Given the description of an element on the screen output the (x, y) to click on. 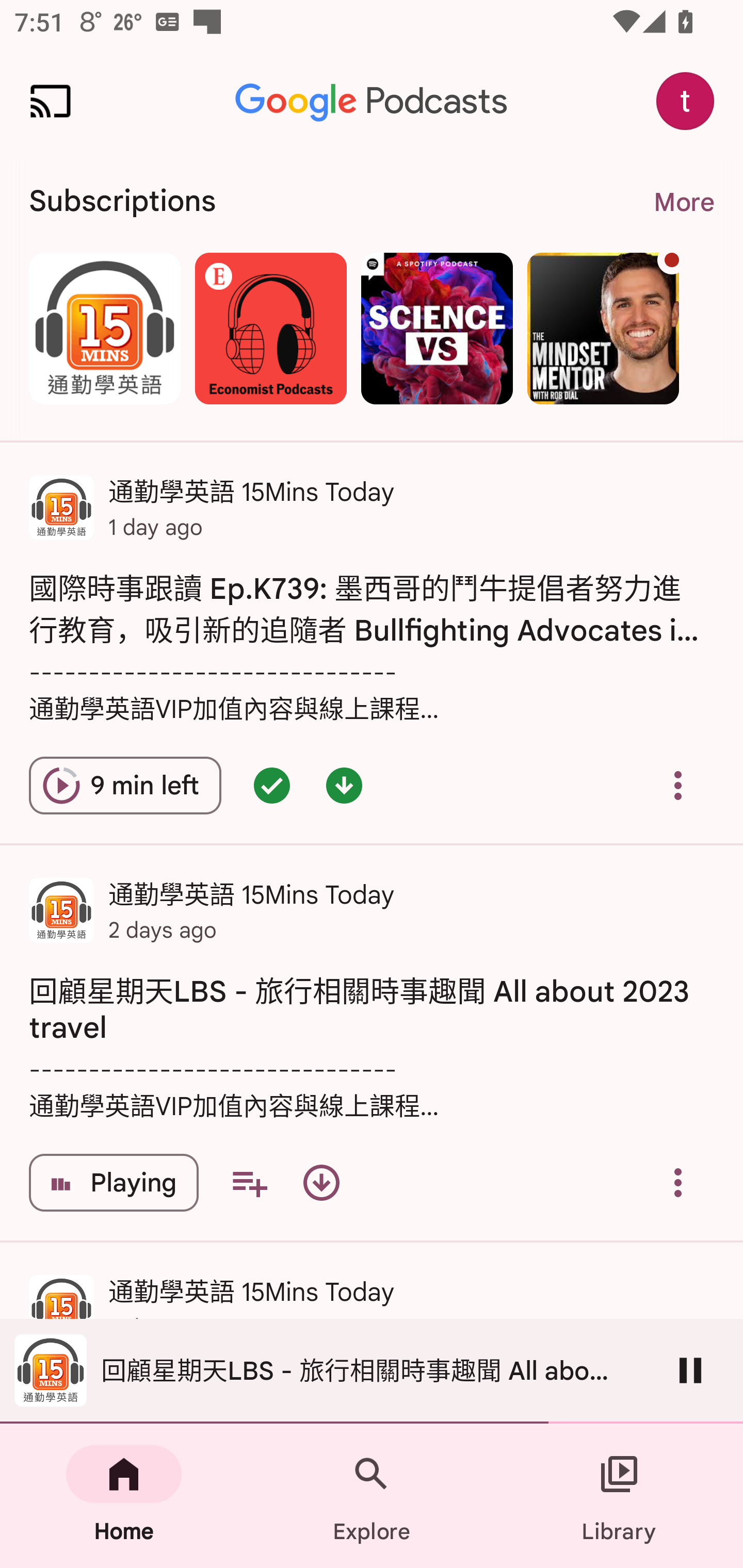
Cast. Disconnected (50, 101)
More More. Navigate to subscriptions page. (683, 202)
通勤學英語 15Mins Today (104, 328)
Economist Podcasts (270, 328)
Science Vs (436, 328)
The Mindset Mentor (603, 328)
Episode queued - double tap for options (271, 785)
Episode downloaded - double tap for options (344, 785)
Overflow menu (677, 785)
Add to your queue (249, 1182)
Download episode (321, 1182)
Overflow menu (677, 1182)
Pause (690, 1370)
Explore (371, 1495)
Library (619, 1495)
